Given the description of an element on the screen output the (x, y) to click on. 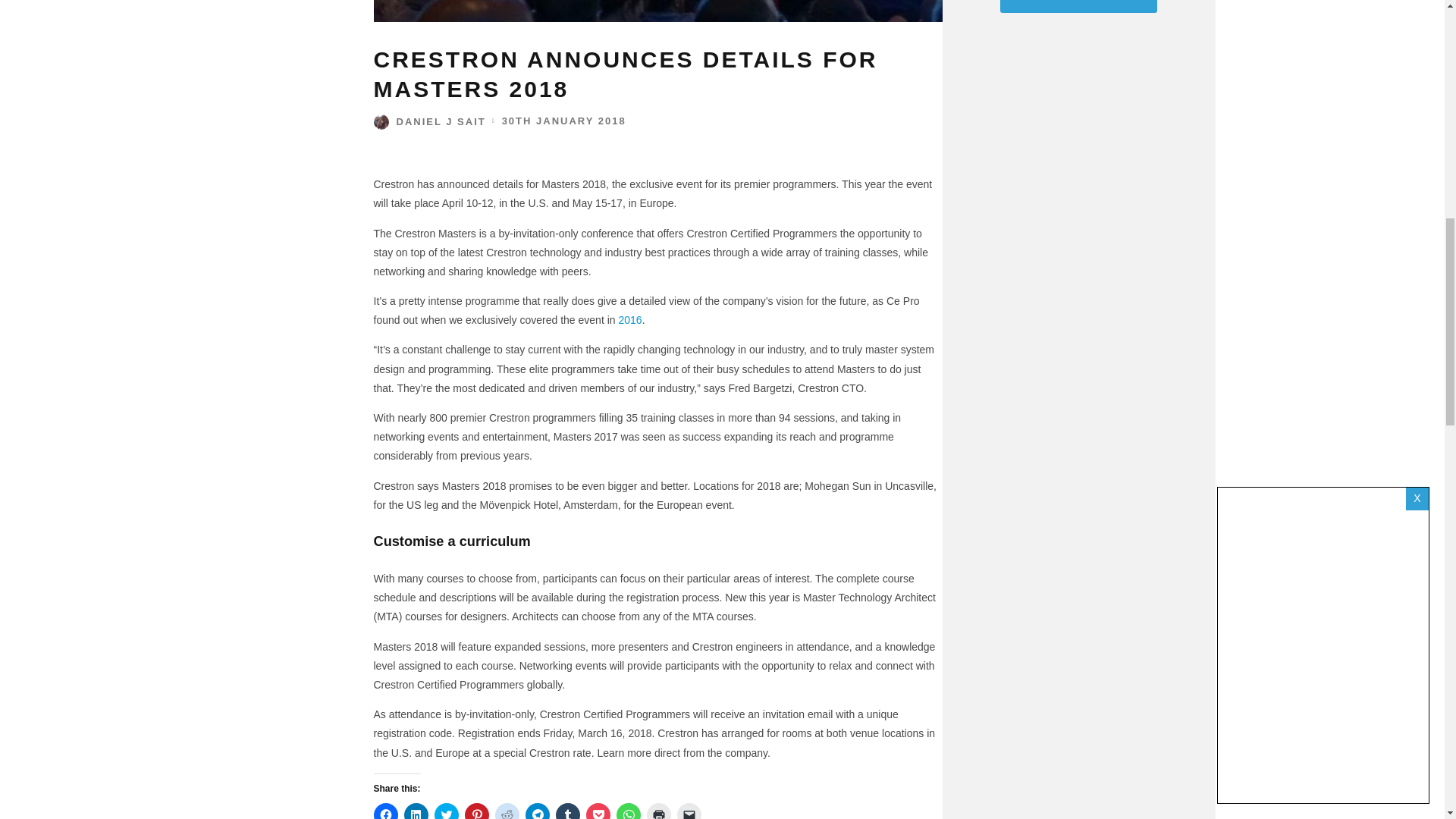
Click to share on Twitter (445, 811)
Click to share on Facebook (384, 811)
Click to share on Pinterest (475, 811)
Click to share on Reddit (506, 811)
Click to share on Telegram (536, 811)
Click to share on LinkedIn (415, 811)
